Given the description of an element on the screen output the (x, y) to click on. 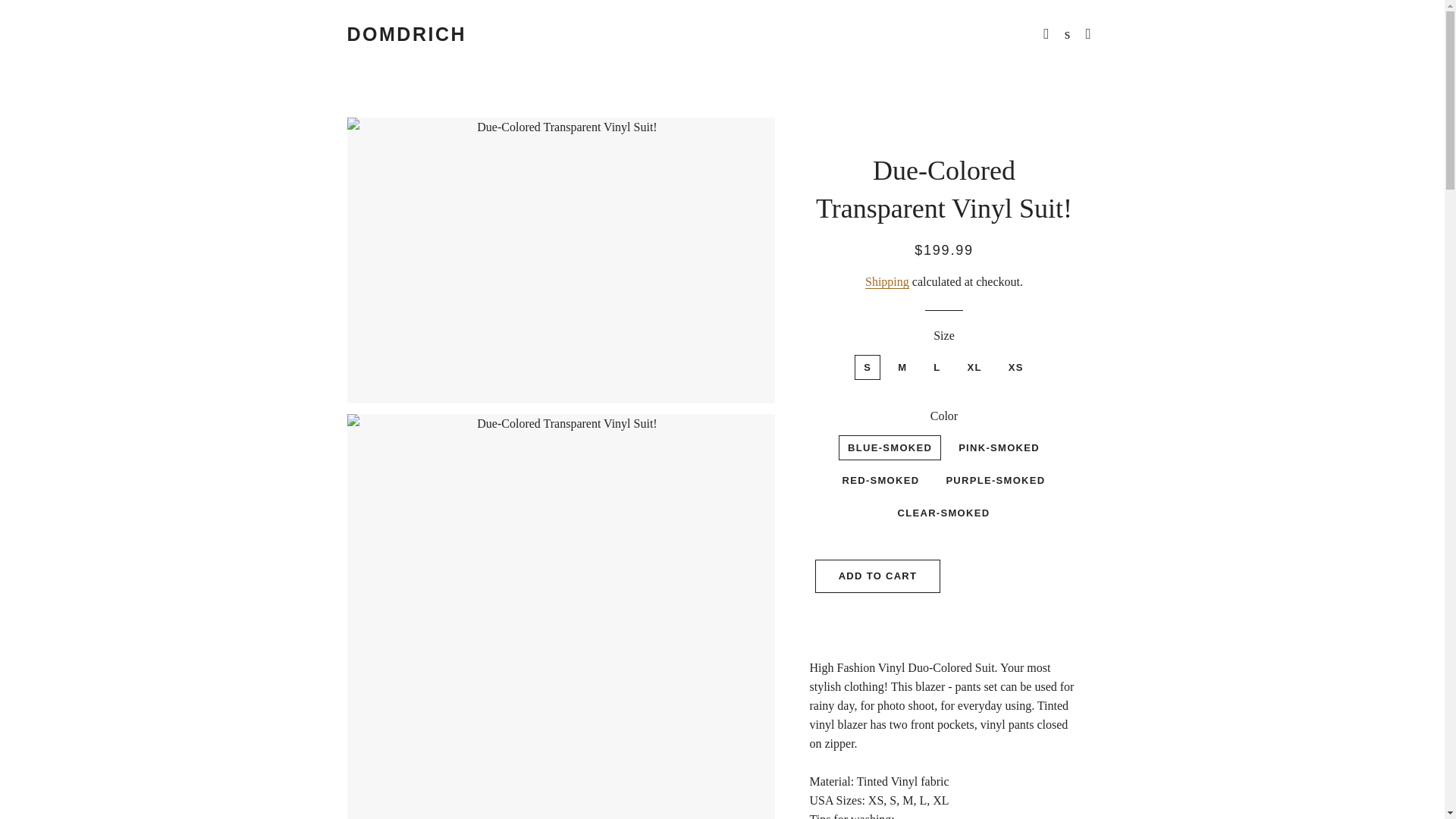
Shipping (886, 282)
DOMDRICH (407, 34)
ADD TO CART (877, 575)
